Given the description of an element on the screen output the (x, y) to click on. 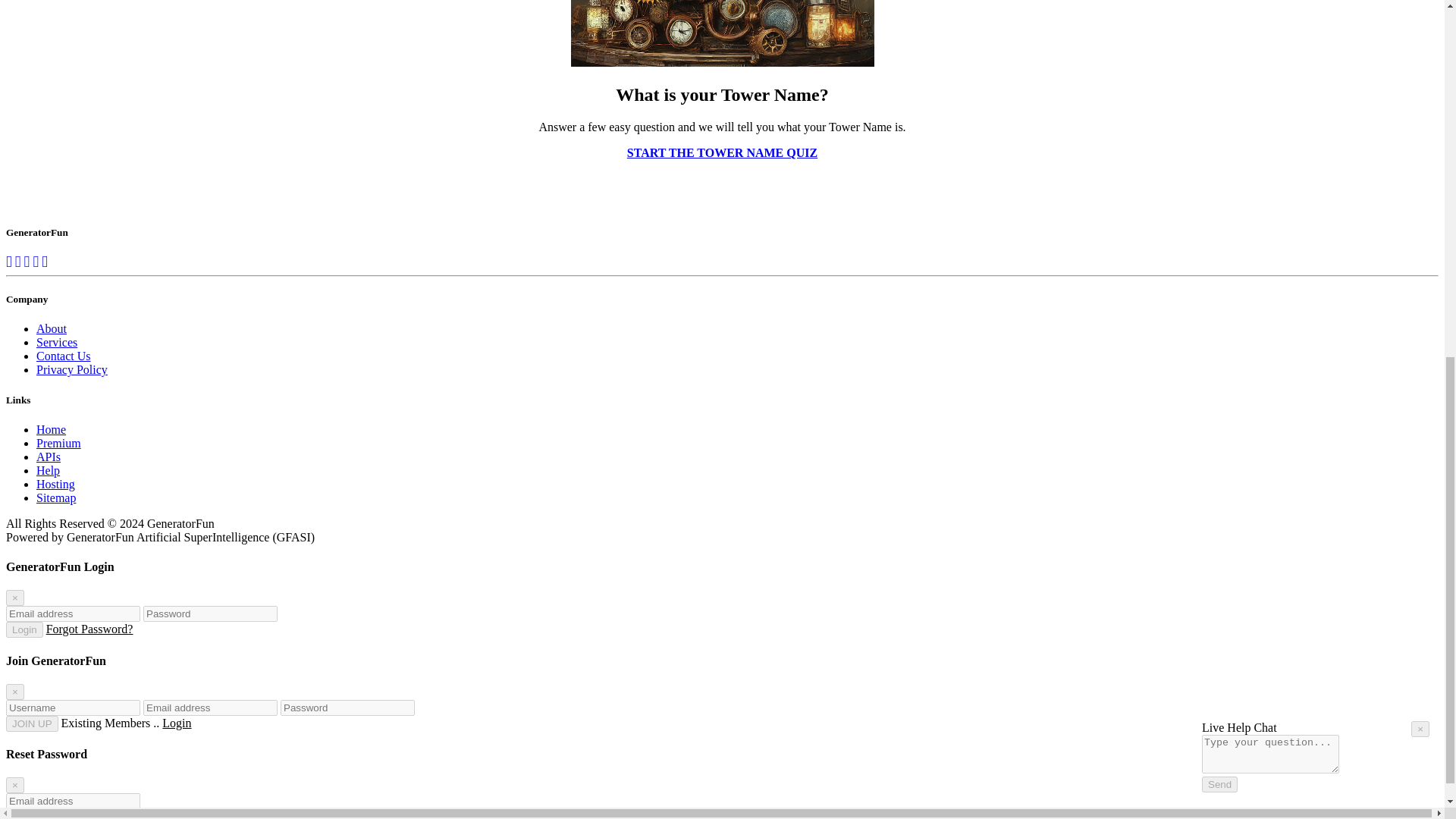
START THE TOWER NAME QUIZ (722, 152)
About (51, 328)
Services (56, 341)
Home (50, 429)
Help (47, 470)
Premium (58, 442)
Send (1219, 127)
APIs (48, 456)
Login (24, 629)
Privacy Policy (71, 369)
Sitemap (55, 497)
Hosting (55, 483)
 Help  (1408, 121)
Forgot Password? (89, 628)
Contact Us (63, 355)
